Given the description of an element on the screen output the (x, y) to click on. 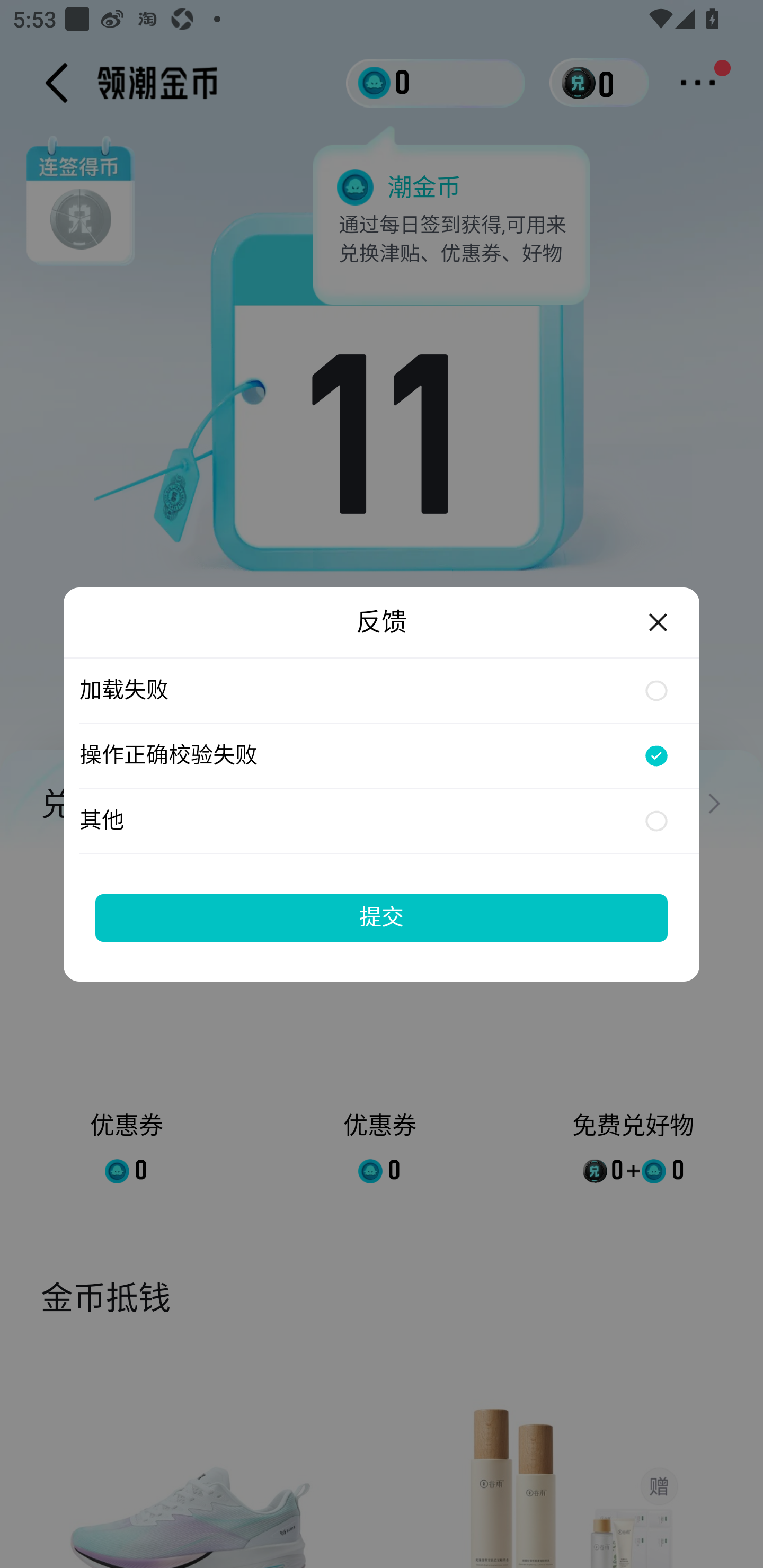
提交 (381, 917)
